Given the description of an element on the screen output the (x, y) to click on. 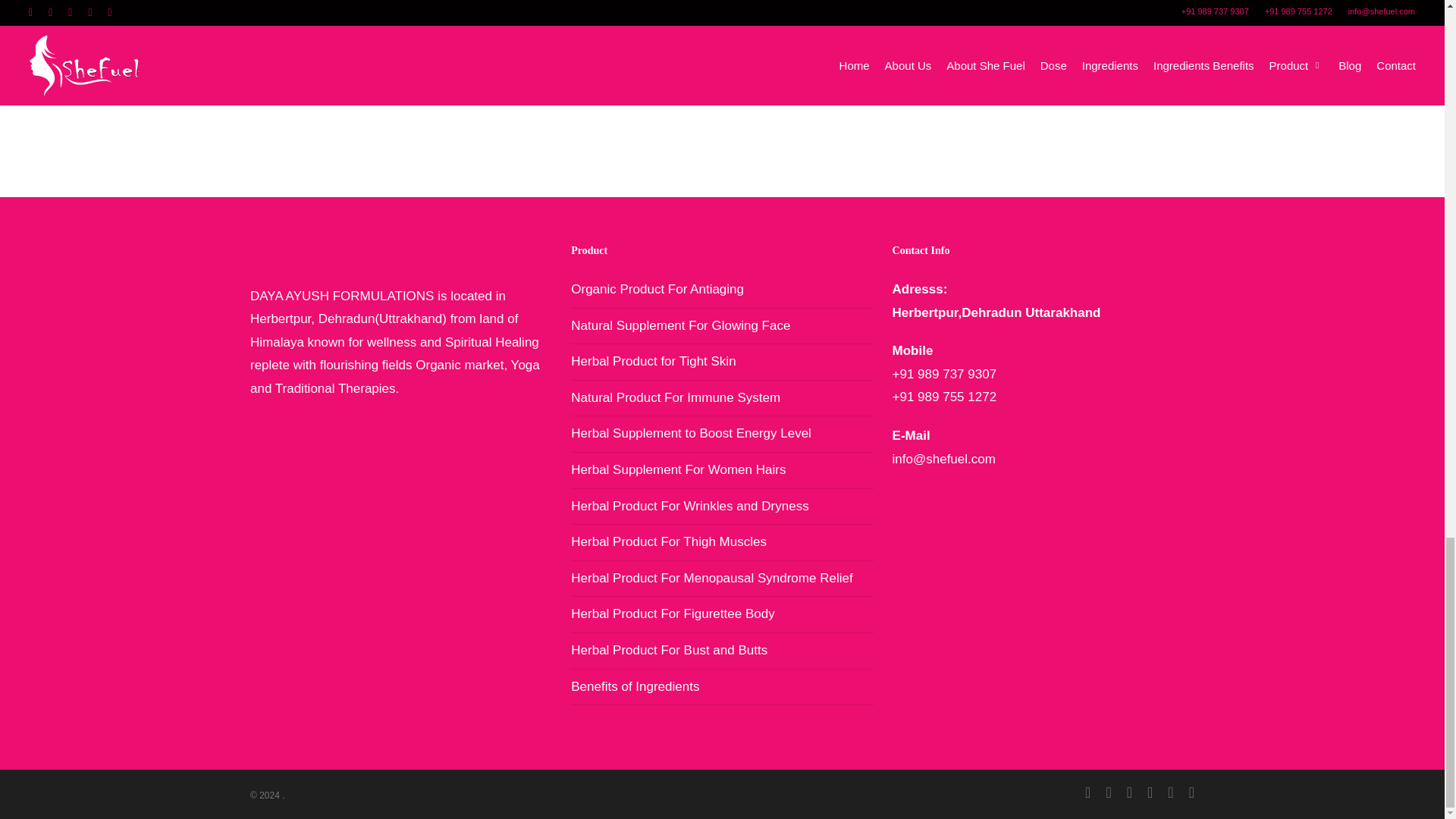
Submit Comment (307, 83)
Natural Supplement For Glowing Face (721, 325)
Submit Comment (307, 83)
Organic Product For Antiaging (721, 292)
yes (258, 31)
